Given the description of an element on the screen output the (x, y) to click on. 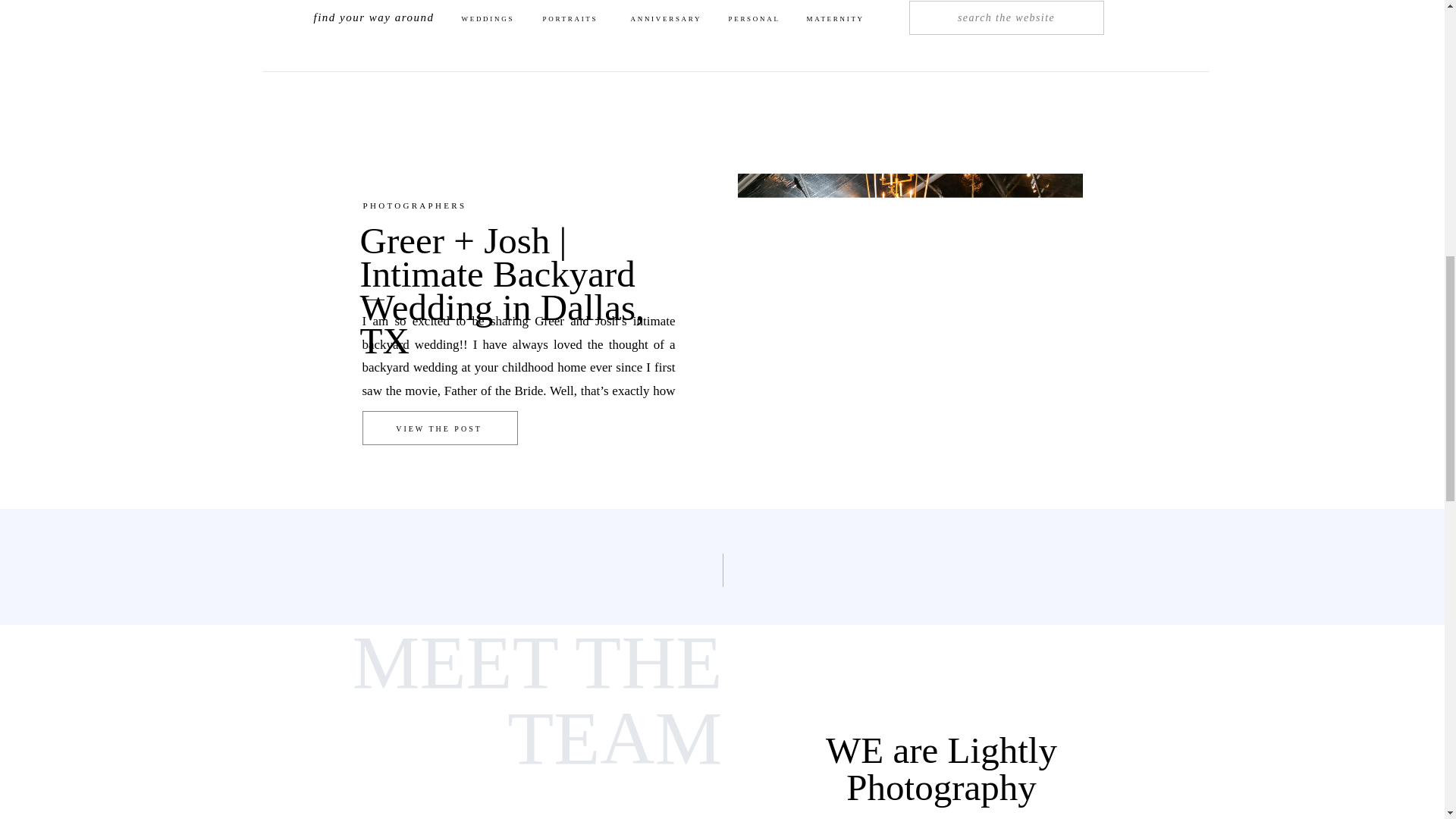
VIEW THE POST (439, 431)
PHOTOGRAPHERS (413, 204)
ANNIVERSARY (669, 19)
WEDDINGS (497, 24)
MATERNITY (841, 25)
PORTRAITS (573, 21)
PERSONAL (757, 25)
